Given the description of an element on the screen output the (x, y) to click on. 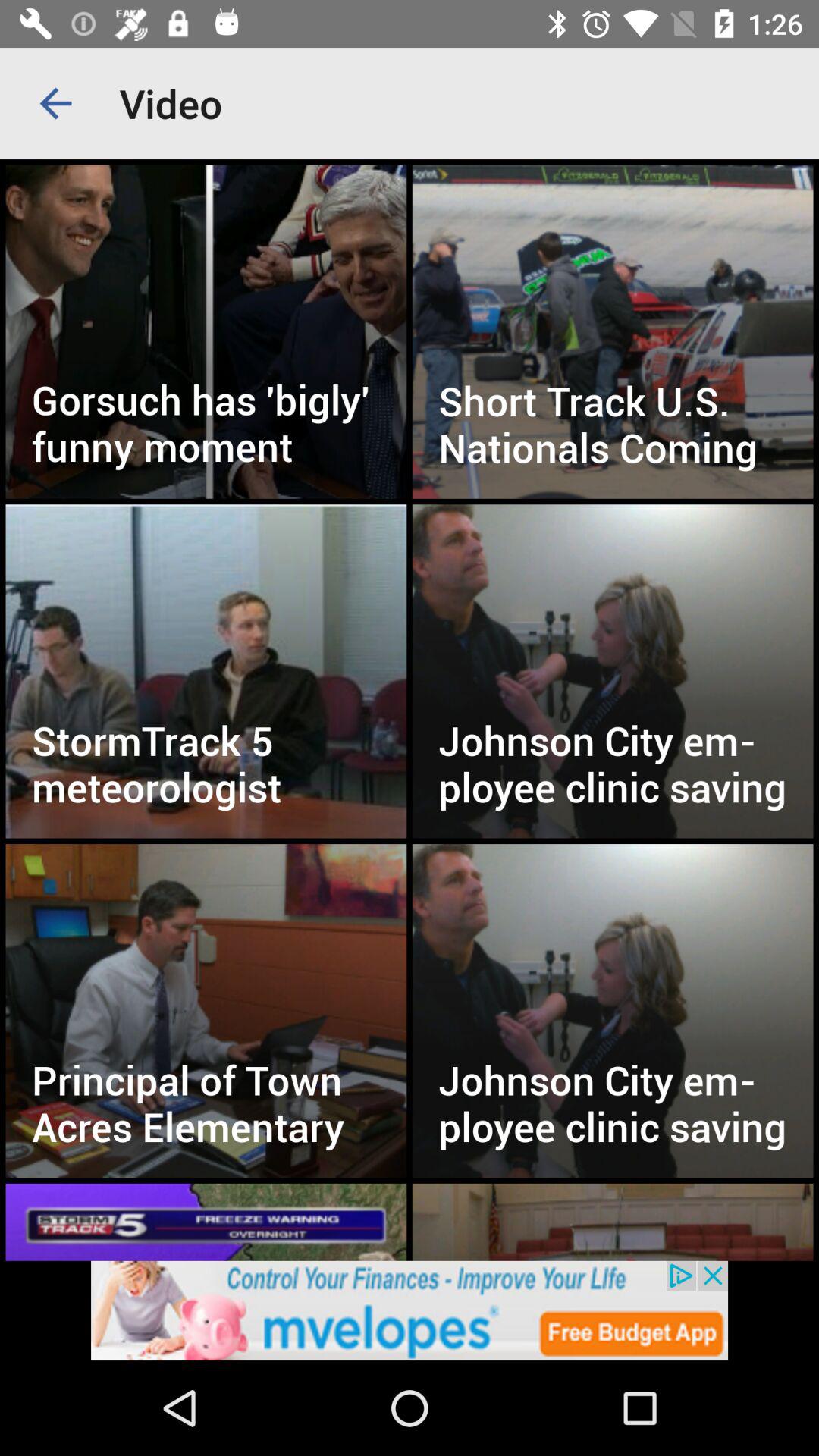
advertisement (409, 1310)
